Given the description of an element on the screen output the (x, y) to click on. 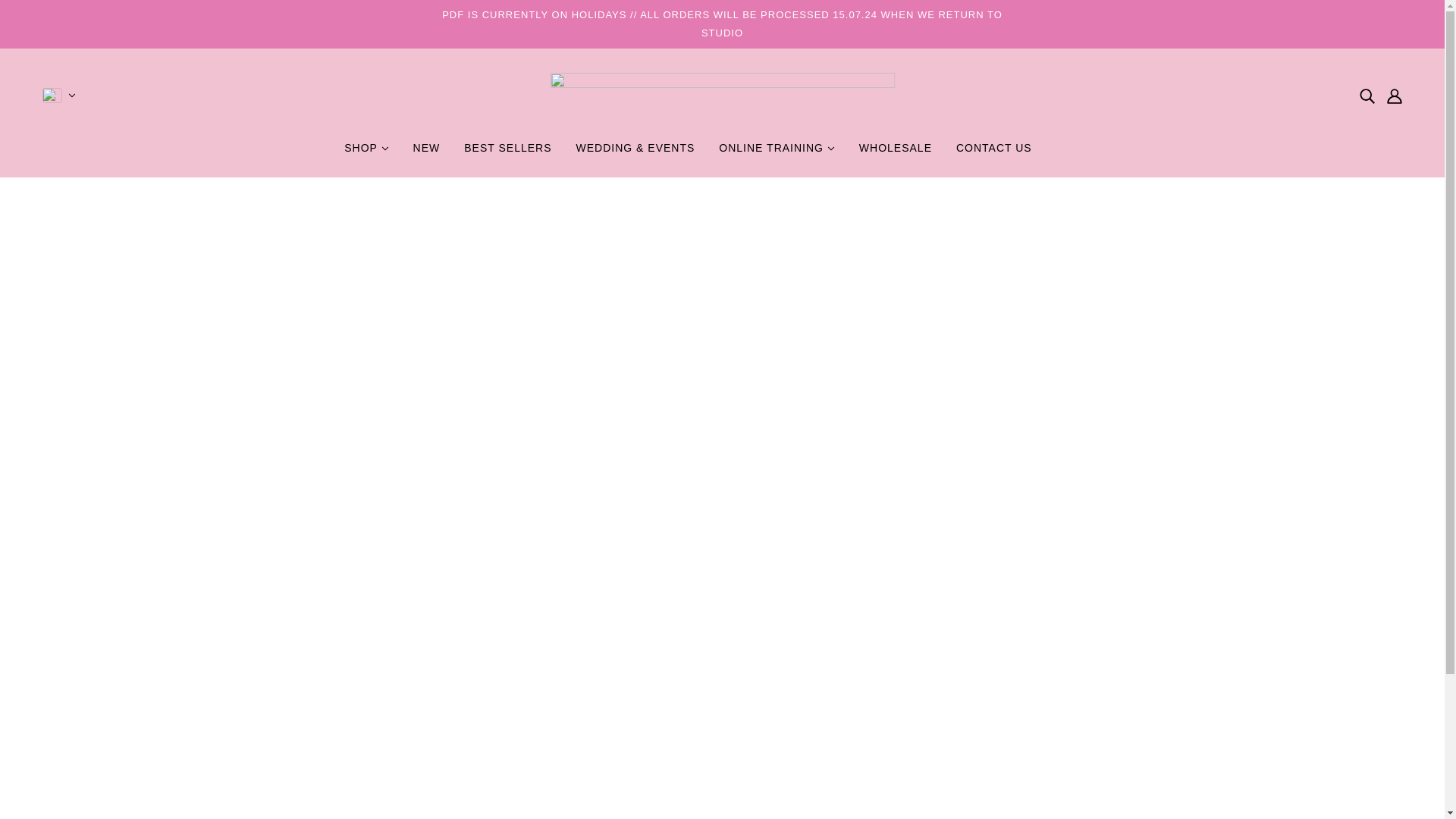
Pretty Dead Flowers (722, 94)
